Given the description of an element on the screen output the (x, y) to click on. 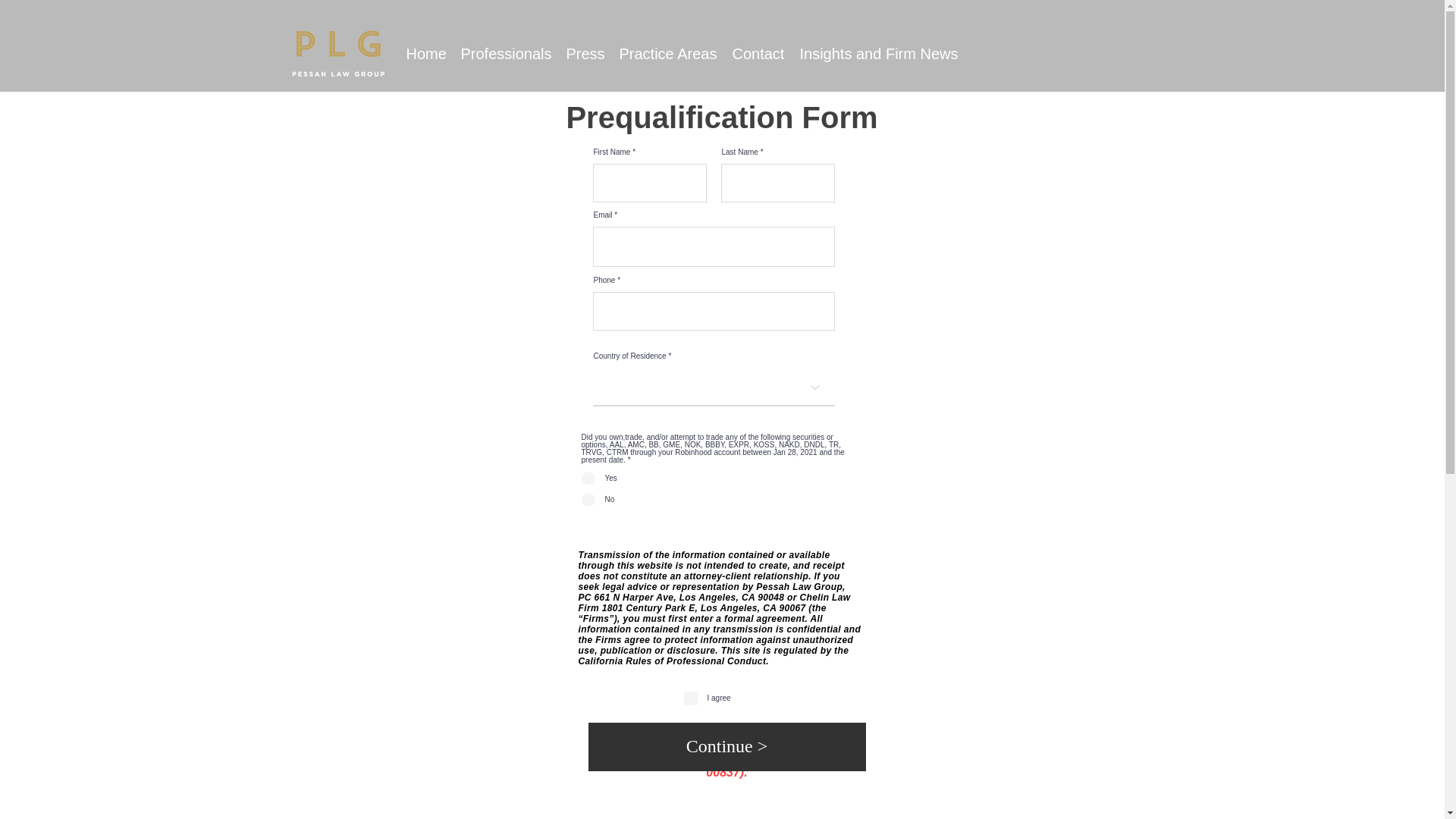
Practice Areas (667, 53)
Insights and Firm News (875, 53)
Contact (758, 53)
Press (584, 53)
Professionals (505, 53)
Home (425, 53)
